Given the description of an element on the screen output the (x, y) to click on. 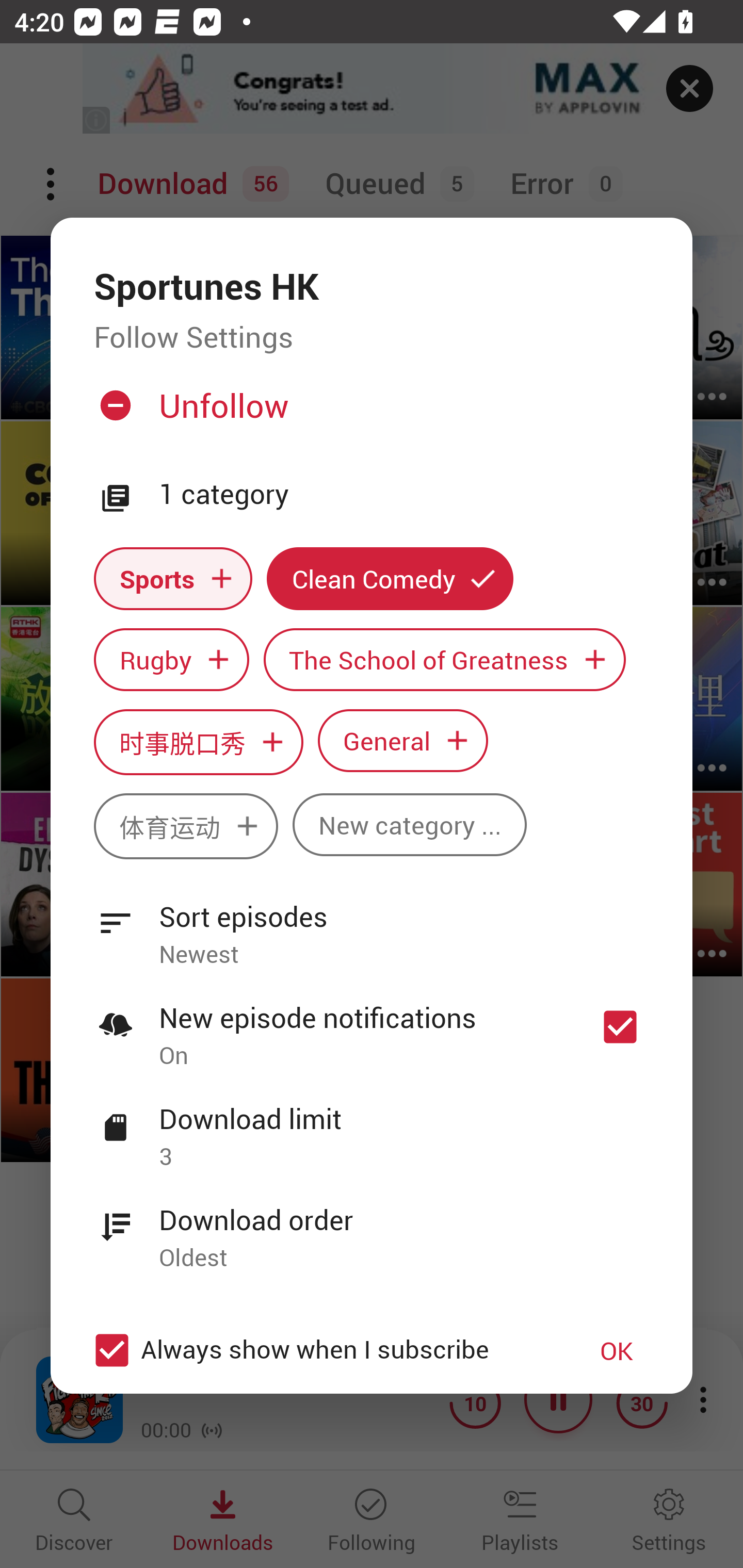
Unfollow (369, 413)
1 category (404, 494)
Sports (172, 578)
Clean Comedy (389, 578)
Rugby (170, 659)
The School of Greatness (444, 659)
时事脱口秀 (198, 741)
General (403, 739)
体育运动 (185, 826)
New category ... (409, 824)
Sort episodes Newest (371, 924)
New episode notifications (620, 1026)
Download limit 3 (371, 1126)
Download order Oldest (371, 1227)
OK (616, 1350)
Always show when I subscribe (320, 1350)
